Given the description of an element on the screen output the (x, y) to click on. 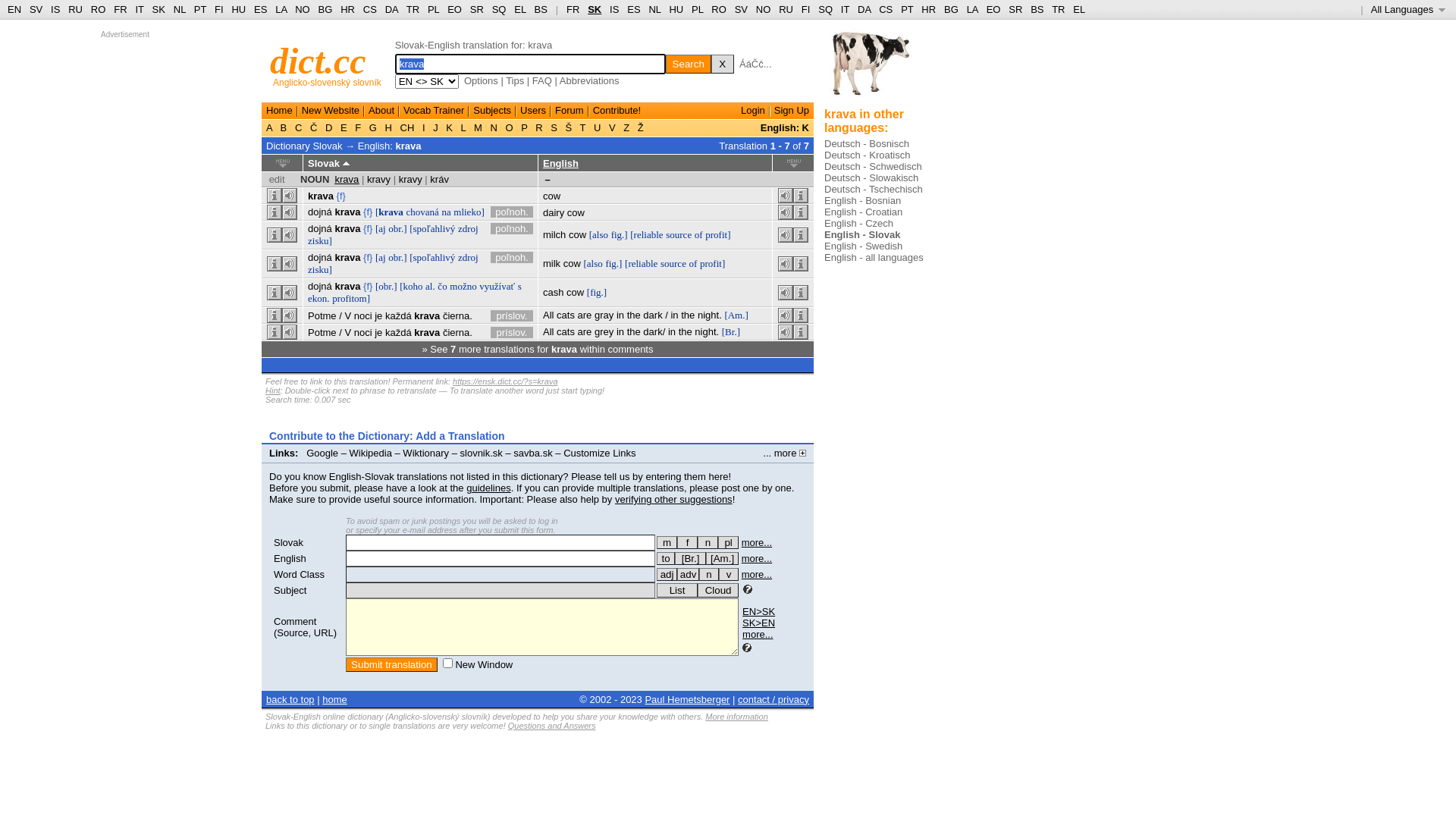
ES Element type: text (633, 9)
grey Element type: text (603, 331)
cow Element type: text (551, 194)
Vocab Trainer Element type: text (433, 110)
Contribute! Element type: text (617, 110)
Deutsch - Schwedisch Element type: text (873, 166)
BS Element type: text (540, 9)
English - all languages Element type: text (873, 257)
dark Element type: text (652, 331)
EO Element type: text (993, 9)
All Languages  Element type: text (1408, 9)
RU Element type: text (785, 9)
more... Element type: text (756, 558)
HR Element type: text (347, 9)
cats Element type: text (565, 331)
U Element type: text (596, 127)
v Element type: text (728, 573)
adv Element type: text (688, 573)
O Element type: text (508, 127)
cats Element type: text (565, 314)
[fig.] Element type: text (596, 292)
BS Element type: text (1036, 9)
more... Element type: text (756, 542)
home Element type: text (334, 699)
cow Element type: text (575, 211)
source Element type: text (678, 234)
pl Element type: text (728, 542)
SV Element type: text (740, 9)
cow Element type: text (577, 234)
ekon. Element type: text (318, 298)
guidelines Element type: text (488, 487)
for verbs Element type: hover (665, 558)
(esp.) American English Element type: hover (722, 558)
English - Croatian Element type: text (863, 211)
Google Element type: text (322, 452)
zisku] Element type: text (319, 240)
CS Element type: text (369, 9)
J Element type: text (435, 127)
krava Element type: text (347, 179)
IT Element type: text (138, 9)
krava Element type: text (320, 194)
CH Element type: text (407, 127)
in Element type: text (673, 314)
DA Element type: text (863, 9)
Cloud Element type: text (717, 590)
DA Element type: text (391, 9)
zisku] Element type: text (319, 269)
BG Element type: text (951, 9)
T Element type: text (582, 127)
zdroj Element type: text (468, 257)
Customize Links Element type: text (599, 452)
English - Bosnian Element type: text (862, 200)
back to top Element type: text (290, 699)
the Element type: text (633, 331)
Home Element type: text (279, 110)
NL Element type: text (654, 9)
D Element type: text (328, 127)
krava Element type: text (347, 285)
SK Element type: text (158, 9)
krava Element type: text (408, 144)
About Element type: text (381, 110)
profit] Element type: text (711, 263)
n Element type: text (707, 542)
Abbreviations Element type: text (589, 80)
M Element type: text (477, 127)
LA Element type: text (972, 9)
in Element type: text (620, 314)
PT Element type: text (906, 9)
Users Element type: text (533, 110)
milk Element type: text (551, 263)
R Element type: text (539, 127)
Options Element type: text (481, 80)
New Website Element type: text (330, 110)
HU Element type: text (675, 9)
noci Element type: text (363, 331)
RU Element type: text (75, 9)
na Element type: text (445, 211)
English Element type: text (560, 163)
[Am.] Element type: text (735, 314)
EN>SK Element type: text (758, 611)
[also Element type: text (598, 234)
edit Element type: text (277, 179)
H Element type: text (388, 127)
adj Element type: text (666, 573)
RO Element type: text (718, 9)
Subjects Element type: text (492, 110)
[also Element type: text (592, 263)
EL Element type: text (1079, 9)
savba.sk Element type: text (532, 452)
[Am.] Element type: text (722, 558)
al. Element type: text (430, 285)
TR Element type: text (412, 9)
Forum Element type: text (569, 110)
krava Element type: text (347, 257)
NL Element type: text (179, 9)
List Element type: text (676, 590)
Slovak Element type: text (288, 542)
Search Element type: text (688, 63)
SQ Element type: text (499, 9)
kravy Element type: text (410, 179)
BG Element type: text (325, 9)
https://ensk.dict.cc/?s=krava Element type: text (504, 380)
cow Element type: text (571, 263)
PT Element type: text (200, 9)
are Element type: text (584, 314)
cash Element type: text (552, 292)
All Element type: text (547, 314)
Dictionary Element type: text (288, 144)
Wikipedia Element type: text (370, 452)
K Element type: text (449, 127)
Login Element type: text (752, 110)
Potme Element type: text (321, 314)
cow Element type: text (574, 292)
TR Element type: text (1057, 9)
profit] Element type: text (717, 234)
SR Element type: text (1015, 9)
V Element type: text (611, 127)
obr.] Element type: text (397, 228)
of Element type: text (698, 234)
in Element type: text (620, 331)
SQ Element type: text (825, 9)
IS Element type: text (54, 9)
[aj Element type: text (380, 228)
IT Element type: text (844, 9)
FR Element type: text (572, 9)
HU Element type: text (238, 9)
Submit translation Element type: text (391, 664)
EN Element type: text (14, 9)
SR Element type: text (476, 9)
English - Slovak Element type: text (862, 234)
[reliable Element type: text (646, 234)
L Element type: text (463, 127)
ES Element type: text (260, 9)
source Element type: text (673, 263)
G Element type: text (372, 127)
F Element type: text (358, 127)
NO Element type: text (302, 9)
RO Element type: text (98, 9)
FI Element type: text (805, 9)
X Element type: text (722, 63)
... more Element type: text (784, 452)
PL Element type: text (433, 9)
EO Element type: text (454, 9)
English - Swedish Element type: text (863, 245)
Sign Up Element type: text (791, 110)
night. Element type: text (706, 331)
P Element type: text (524, 127)
B Element type: text (283, 127)
dict.cc Element type: text (317, 60)
je Element type: text (378, 314)
to Element type: text (665, 558)
dairy Element type: text (553, 211)
obr.] Element type: text (397, 257)
[obr.] Element type: text (386, 285)
kravy Element type: text (378, 179)
[krava Element type: text (389, 211)
krava Element type: text (426, 331)
fig.] Element type: text (619, 234)
IS Element type: text (613, 9)
are Element type: text (584, 331)
gray Element type: text (603, 314)
English Element type: text (289, 558)
More information Element type: text (736, 716)
Deutsch - Tschechisch Element type: text (873, 188)
milch Element type: text (553, 234)
noci Element type: text (363, 314)
the Element type: text (633, 314)
FR Element type: text (119, 9)
contact / privacy Element type: text (773, 699)
krava Element type: text (347, 211)
E Element type: text (343, 127)
in Element type: text (671, 331)
zdroj Element type: text (468, 228)
[reliable Element type: text (640, 263)
verifying other suggestions Element type: text (673, 499)
night. Element type: text (709, 314)
krava Element type: text (347, 228)
dark Element type: text (652, 314)
(esp.) British English Element type: hover (690, 558)
FAQ Element type: text (542, 80)
Contribute to the Dictionary: Add a Translation Element type: text (387, 435)
of Element type: text (693, 263)
S Element type: text (554, 127)
slovnik.sk Element type: text (481, 452)
Potme Element type: text (321, 331)
the Element type: text (687, 314)
Paul Hemetsberger Element type: text (686, 699)
the Element type: text (685, 331)
I Element type: text (423, 127)
m Element type: text (666, 542)
EL Element type: text (519, 9)
SK Element type: text (594, 9)
more... Element type: text (756, 574)
English: K Element type: text (784, 127)
Wiktionary Element type: text (425, 452)
CS Element type: text (885, 9)
Hint Element type: text (272, 390)
HR Element type: text (928, 9)
holstein cow  5 years old ... Element type: hover (870, 67)
English - Czech Element type: text (858, 223)
Z Element type: text (626, 127)
Deutsch - Bosnisch Element type: text (866, 143)
profitom] Element type: text (351, 298)
krava Element type: text (426, 314)
A Element type: text (270, 127)
[Br.] Element type: text (730, 331)
LA Element type: text (280, 9)
Questions and Answers Element type: text (552, 725)
[aj Element type: text (380, 257)
more... Element type: text (757, 634)
Deutsch - Slowakisch Element type: text (871, 177)
je Element type: text (378, 331)
[koho Element type: text (410, 285)
fig.] Element type: text (613, 263)
SV Element type: text (35, 9)
Tips Element type: text (514, 80)
Deutsch - Kroatisch Element type: text (867, 154)
All Element type: text (547, 331)
n Element type: text (708, 573)
[Br.] Element type: text (690, 558)
NO Element type: text (763, 9)
SK>EN Element type: text (758, 622)
C Element type: text (297, 127)
PL Element type: text (696, 9)
mlieko] Element type: text (468, 211)
f Element type: text (687, 542)
FI Element type: text (218, 9)
N Element type: text (493, 127)
